Given the description of an element on the screen output the (x, y) to click on. 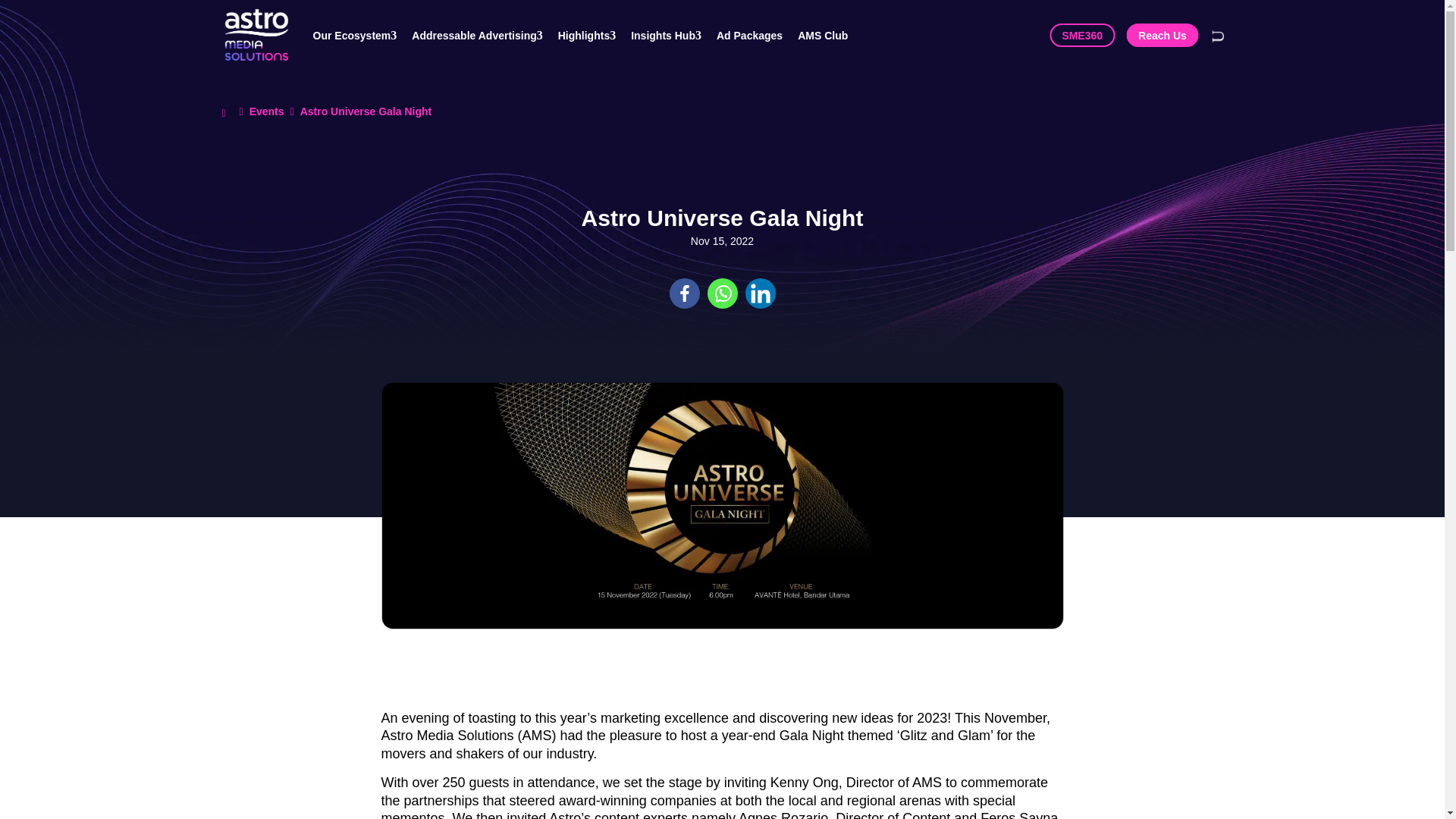
AMS Club (830, 35)
Insights Hub (673, 35)
Ad Packages (756, 35)
Linkedin (759, 293)
Addressable Advertising (484, 35)
Highlights (593, 35)
Facebook (683, 293)
Whatsapp (721, 293)
Our Ecosystem (362, 35)
Astro Media Solutions (255, 34)
